Given the description of an element on the screen output the (x, y) to click on. 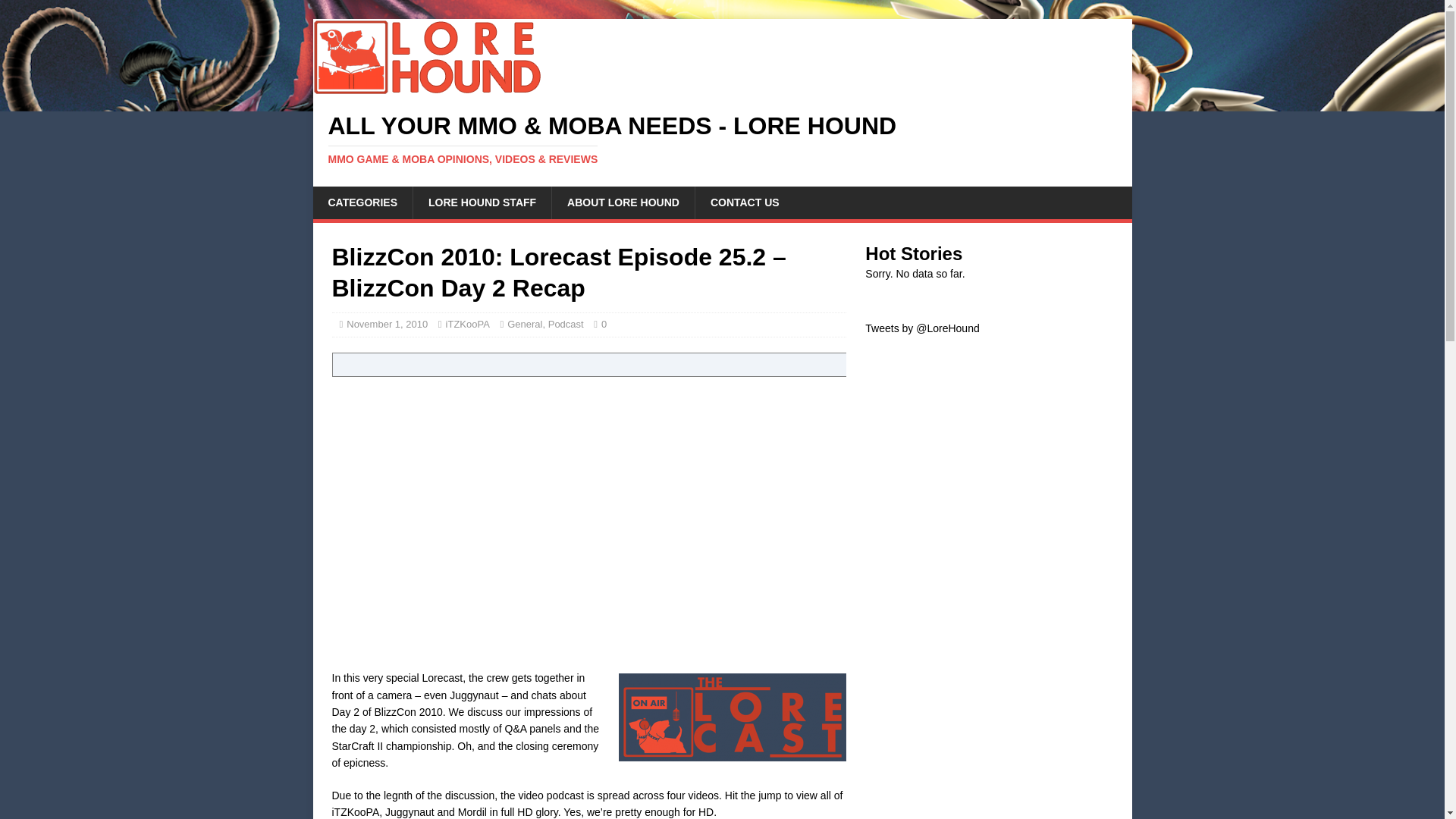
November 1, 2010 (387, 324)
Podcast (565, 324)
CATEGORIES (362, 202)
General (523, 324)
lorecastlogo2 (731, 717)
CONTACT US (744, 202)
iTZKooPA (467, 324)
LORE HOUND STAFF (481, 202)
ABOUT LORE HOUND (622, 202)
